Given the description of an element on the screen output the (x, y) to click on. 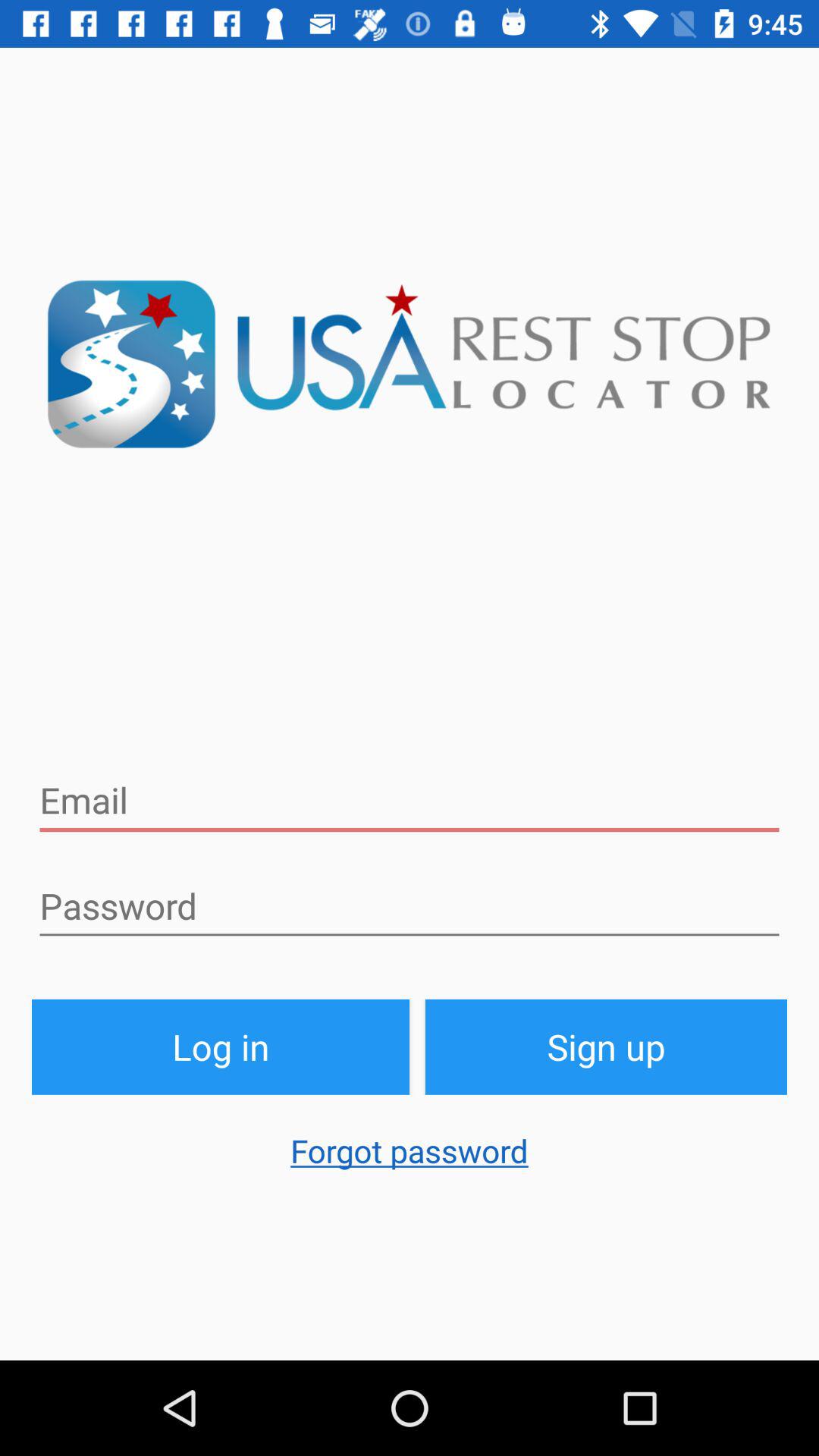
press item next to sign up item (220, 1046)
